Given the description of an element on the screen output the (x, y) to click on. 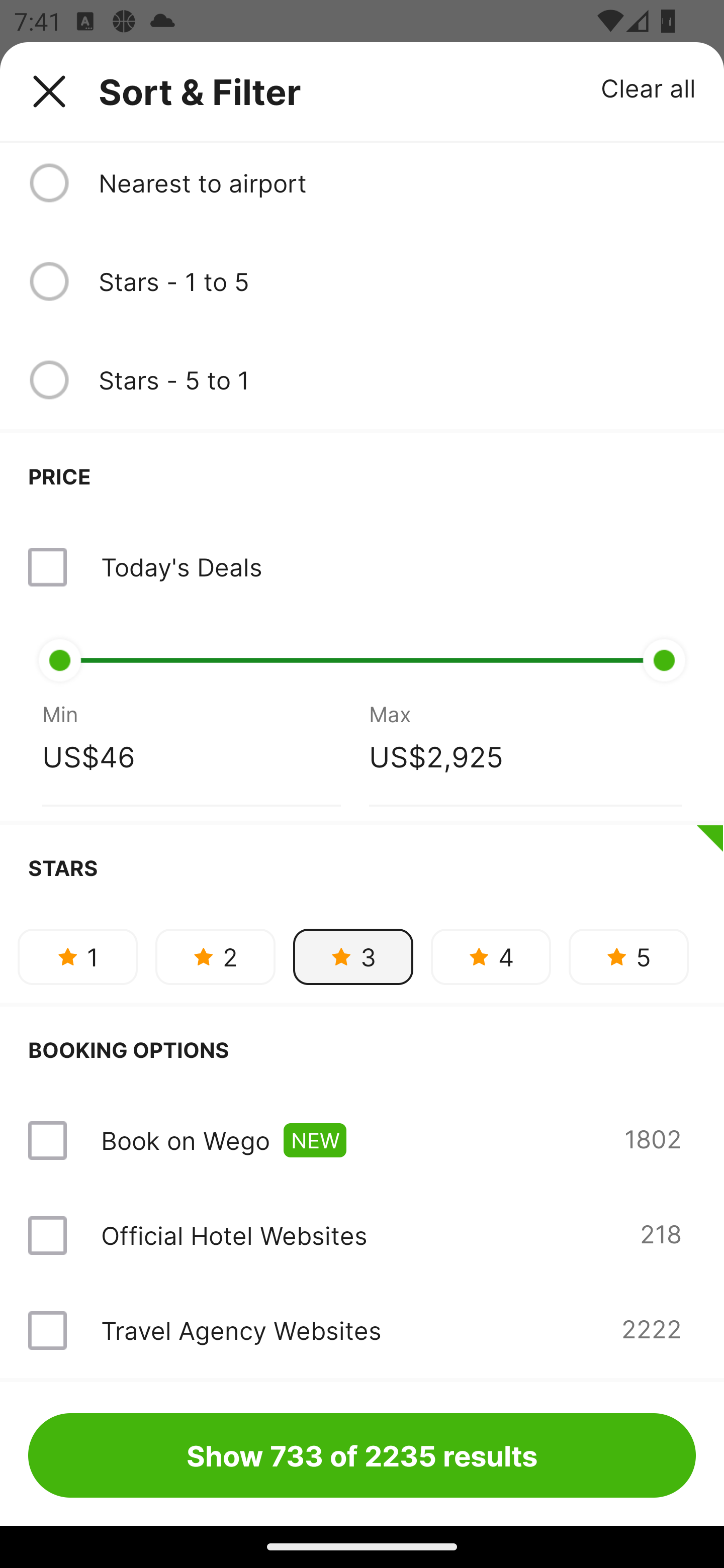
Clear all (648, 87)
Nearest to airport (396, 182)
Stars - 1 to 5 (396, 281)
Stars - 5 to 1 (396, 380)
Today's Deals (362, 566)
Today's Deals (181, 566)
1 (77, 956)
2 (214, 956)
3 (352, 956)
4 (491, 956)
5 (627, 956)
Book on Wego NEW 1802 (362, 1140)
Book on Wego (184, 1139)
Official Hotel Websites 218 (362, 1235)
Official Hotel Websites (233, 1235)
Travel Agency Websites 2222 (362, 1330)
Travel Agency Websites (240, 1330)
Show 733 of 2235 results (361, 1454)
